Given the description of an element on the screen output the (x, y) to click on. 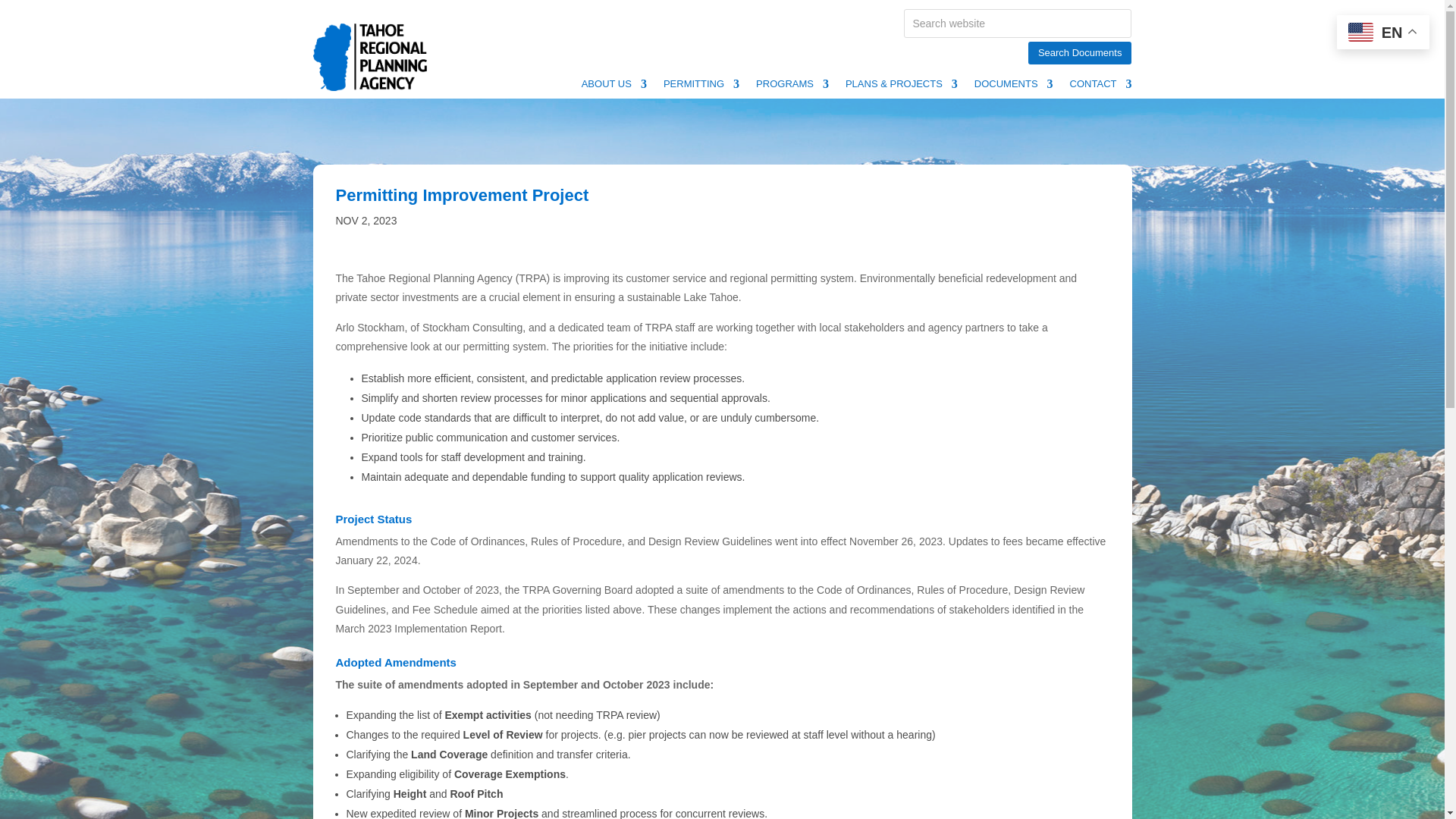
ABOUT US (613, 86)
PERMITTING (701, 86)
Search Documents (1079, 52)
Search (24, 13)
